Given the description of an element on the screen output the (x, y) to click on. 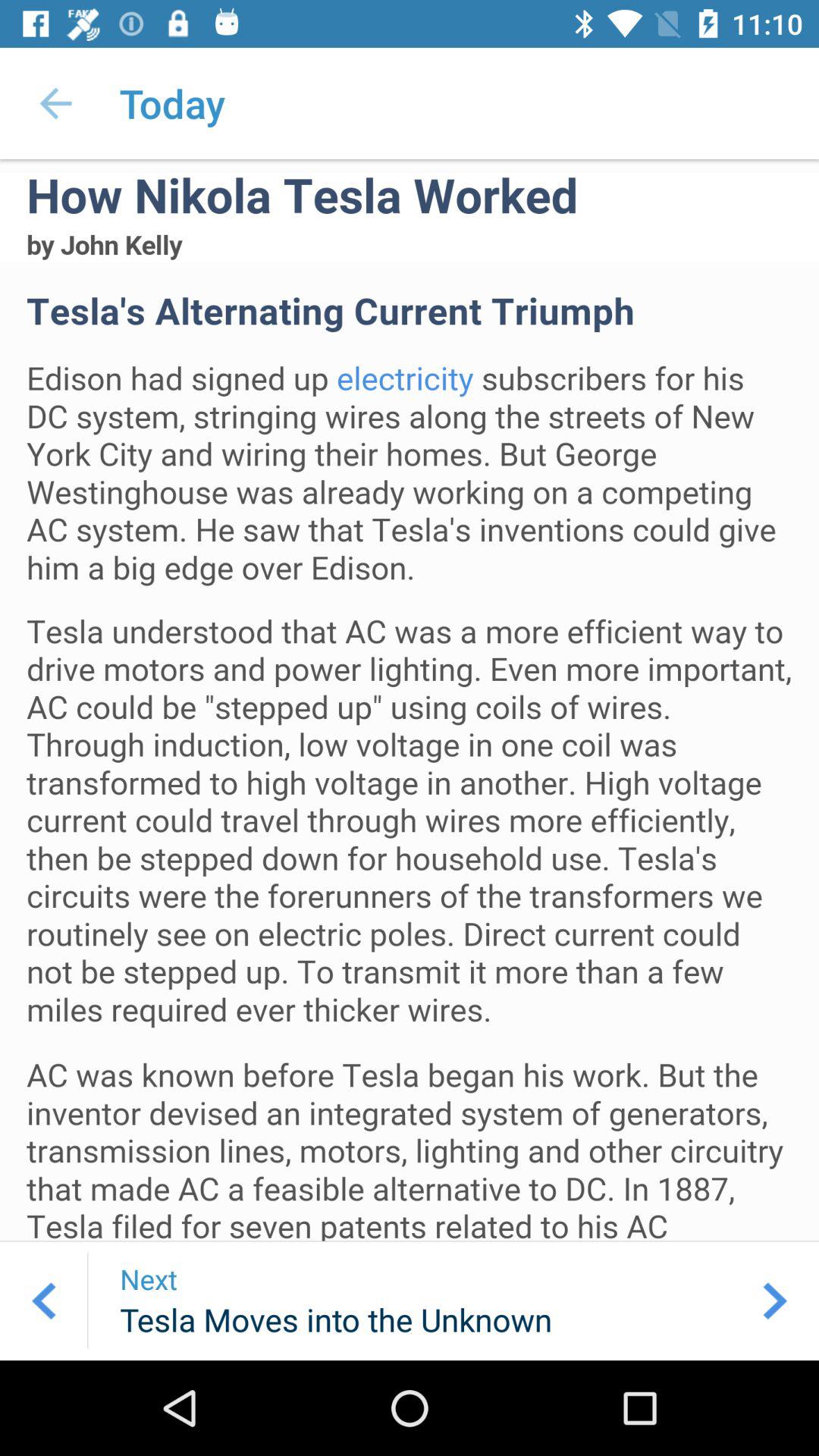
go to next (775, 1300)
